Given the description of an element on the screen output the (x, y) to click on. 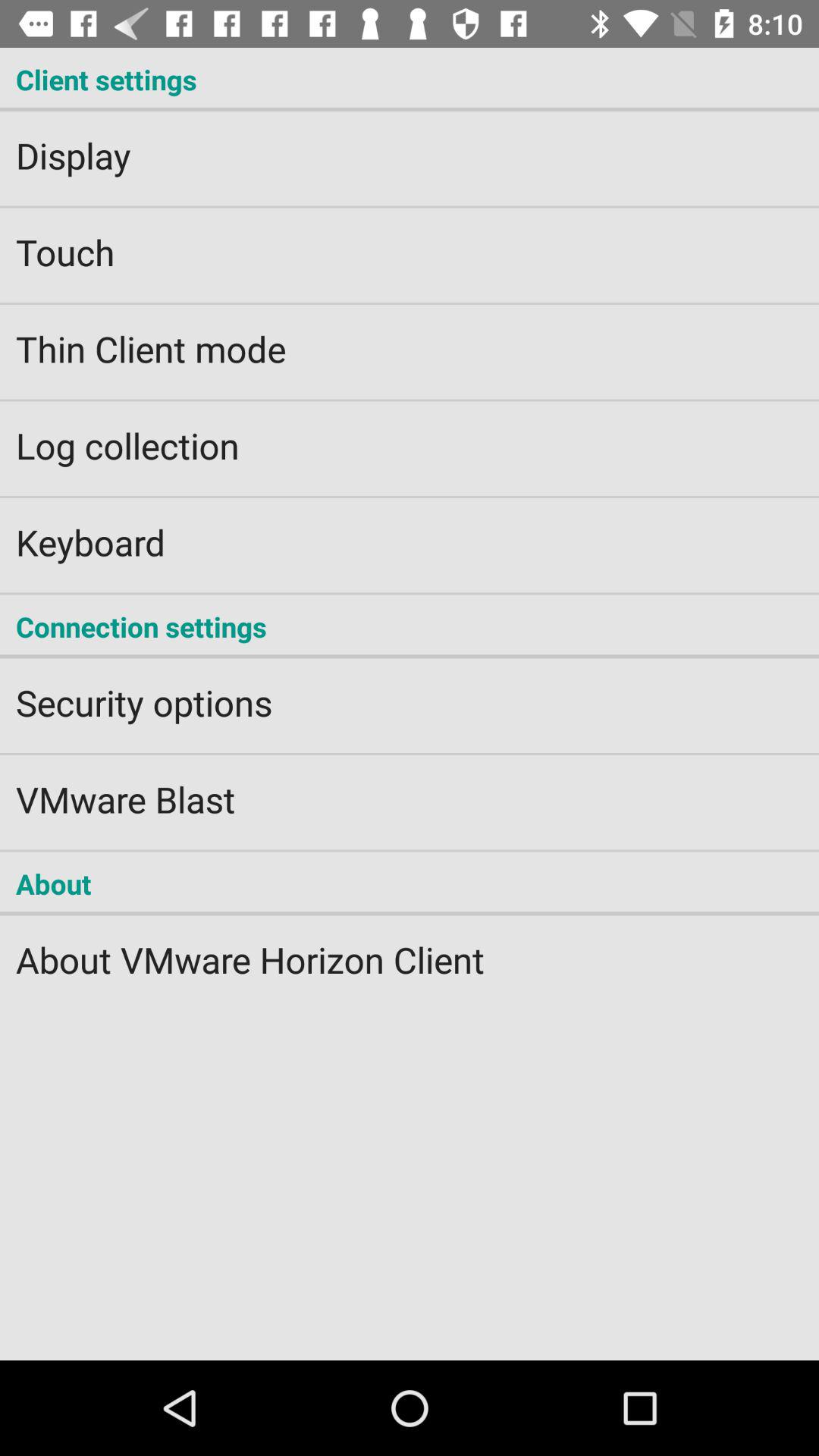
turn on the thin client mode (409, 338)
